Given the description of an element on the screen output the (x, y) to click on. 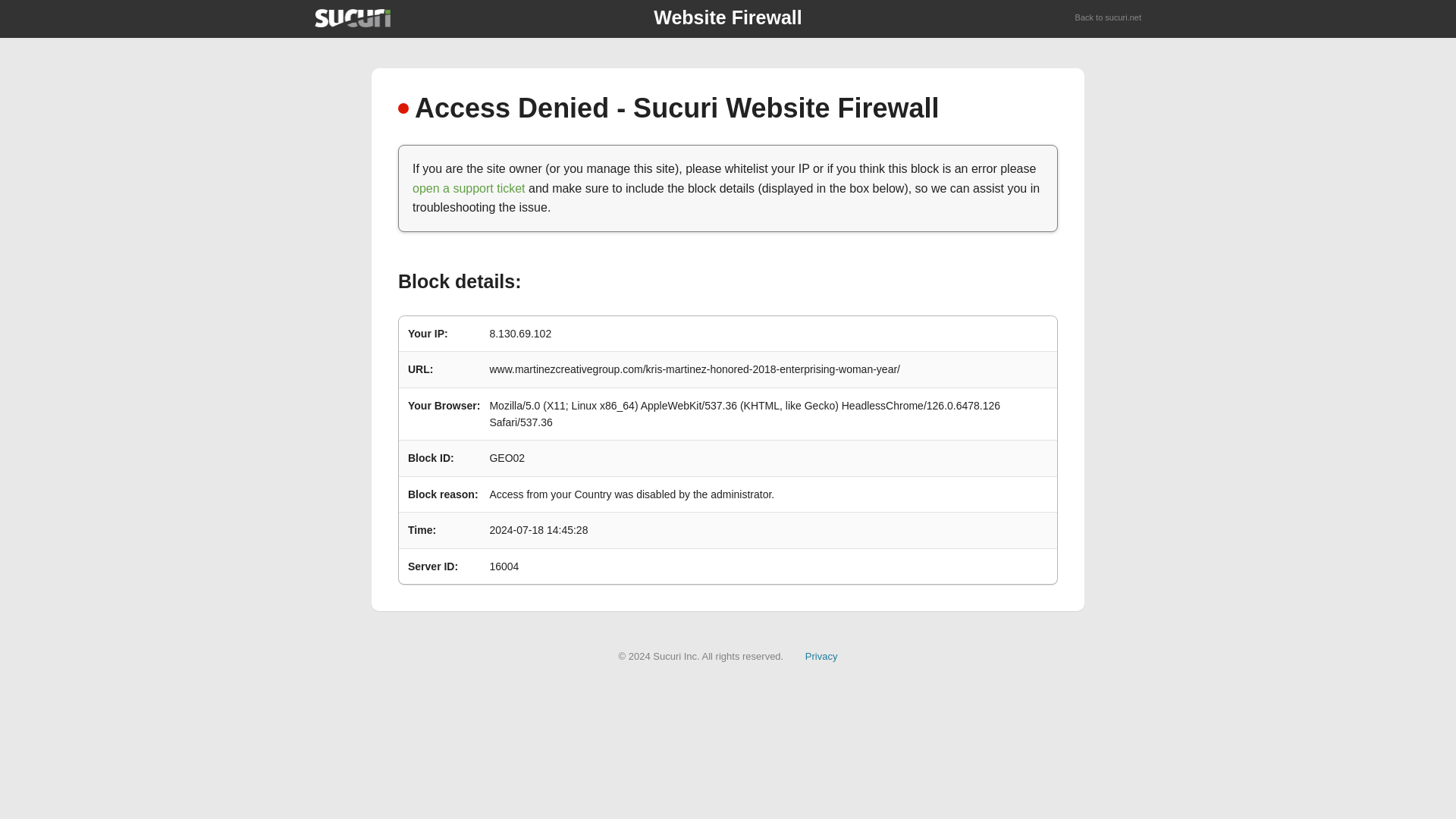
open a support ticket (468, 187)
Privacy (821, 655)
Back to sucuri.net (1108, 18)
